Given the description of an element on the screen output the (x, y) to click on. 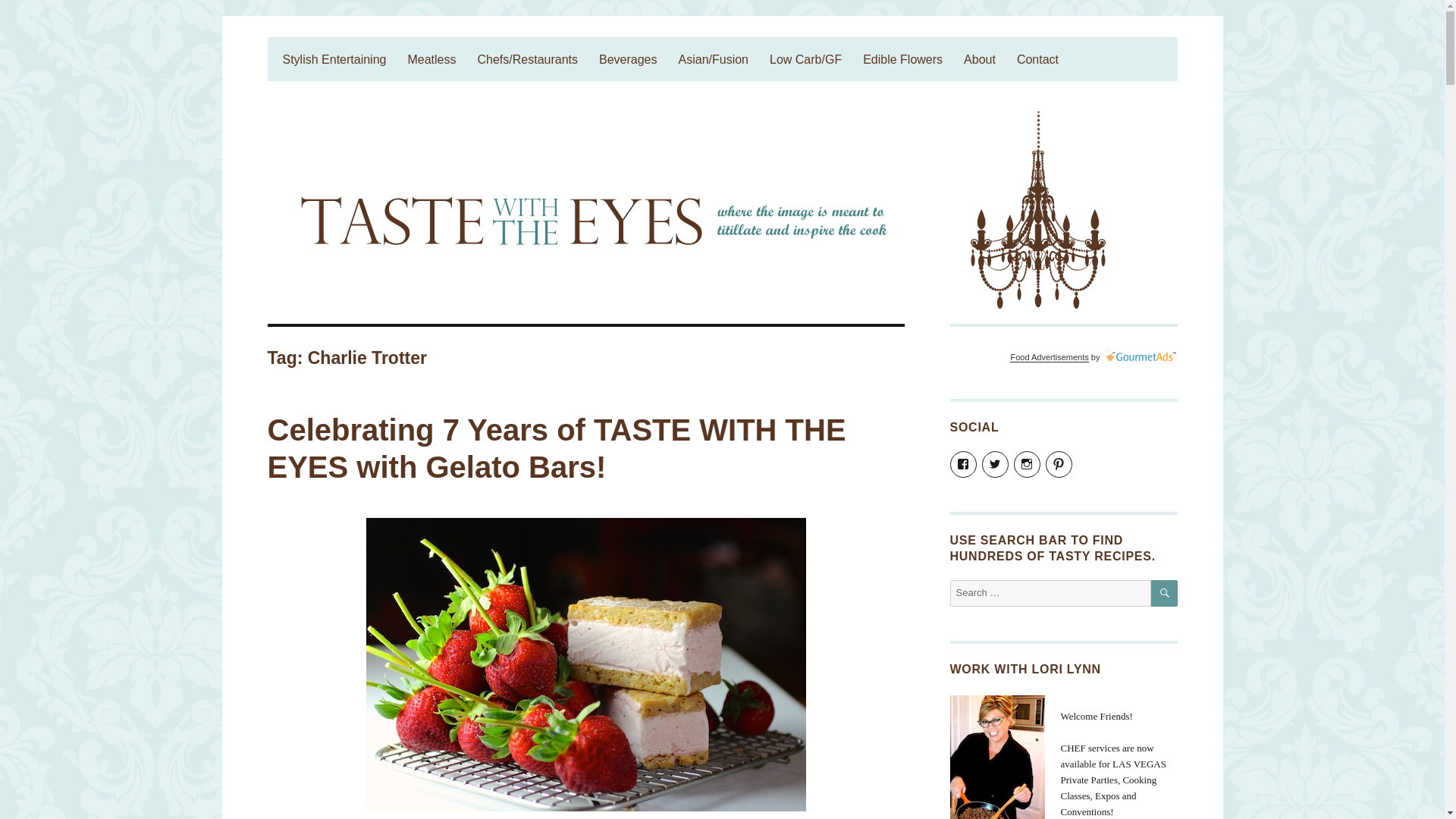
Taste With The Eyes (368, 50)
Celebrating 7 Years of TASTE WITH THE EYES with Gelato Bars! (555, 448)
About (979, 59)
Beverages (628, 59)
Edible Flowers (902, 59)
Stylish Entertaining (333, 59)
Contact (1037, 59)
Food Advertisements (1048, 356)
Meatless (430, 59)
